Given the description of an element on the screen output the (x, y) to click on. 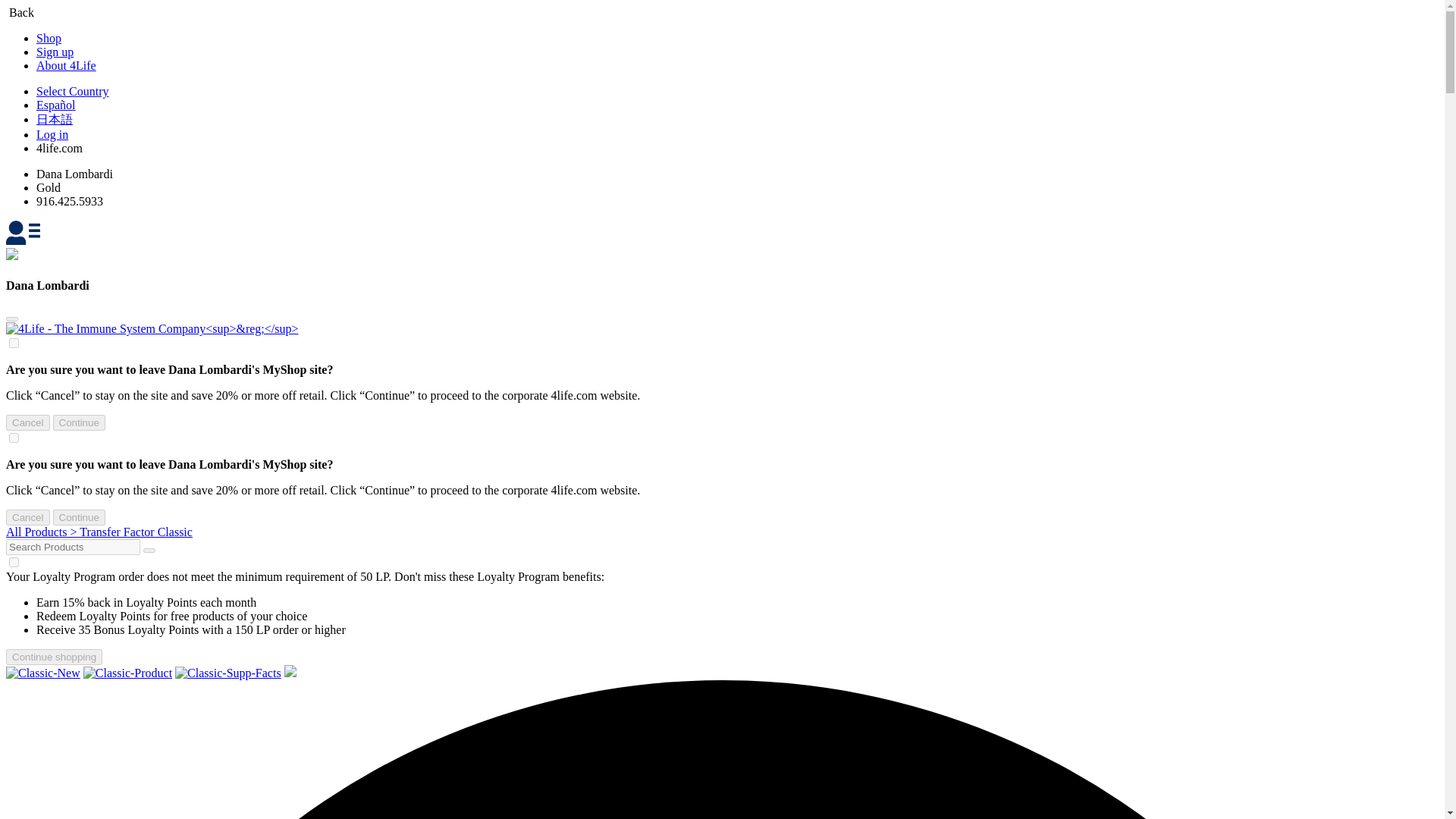
on (13, 562)
Shop (48, 38)
Continue shopping (53, 657)
Continue (78, 517)
About 4Life (66, 65)
 Back (19, 11)
Sign up (55, 51)
Cancel (27, 422)
4life.com (59, 147)
Cancel (27, 517)
Continue (78, 422)
on (13, 438)
on (13, 343)
Log in (52, 133)
